Given the description of an element on the screen output the (x, y) to click on. 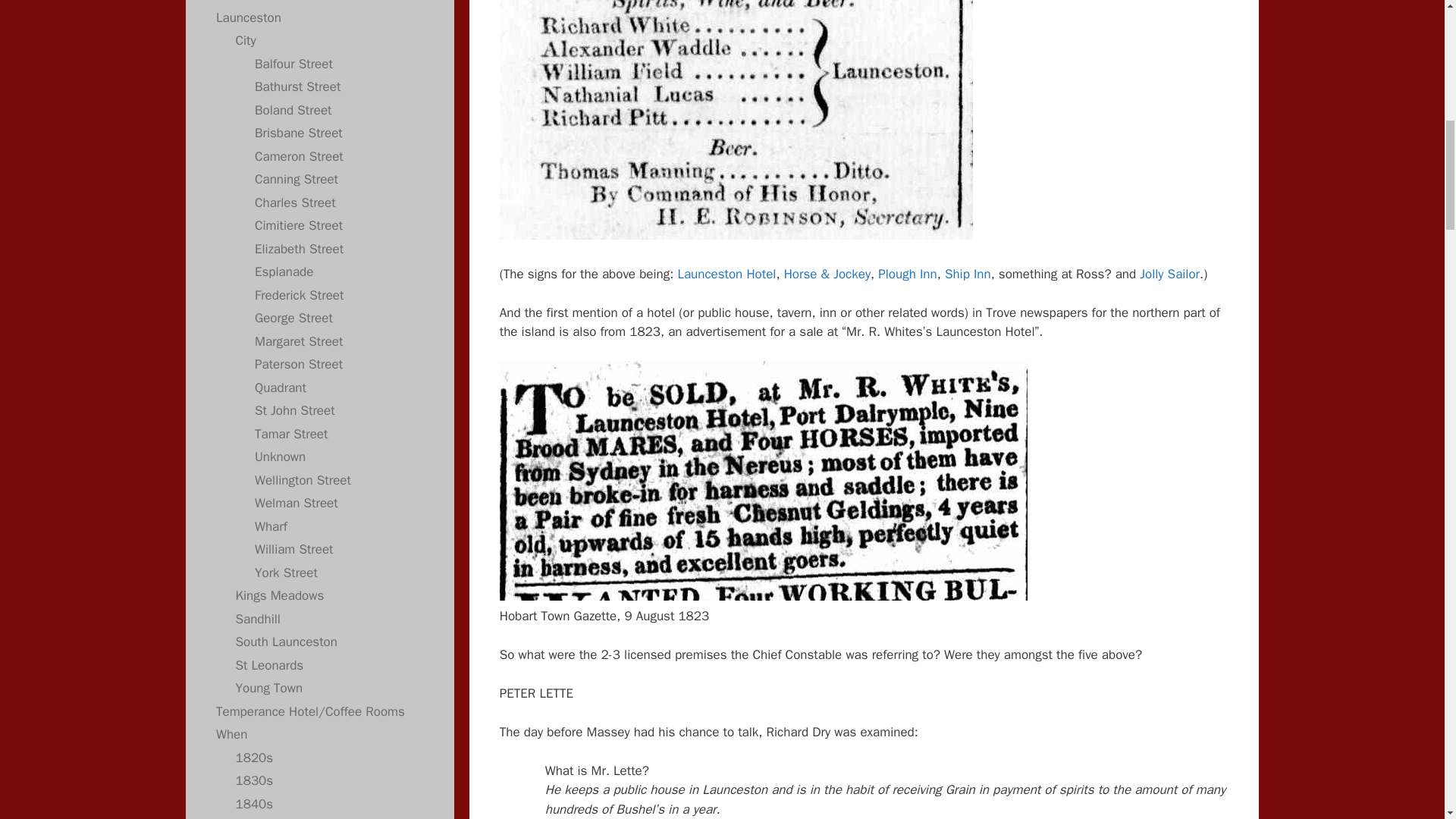
Launceston Hotel (726, 273)
Jolly Sailor (1169, 273)
Ship Inn (967, 273)
Plough Inn (906, 273)
